Given the description of an element on the screen output the (x, y) to click on. 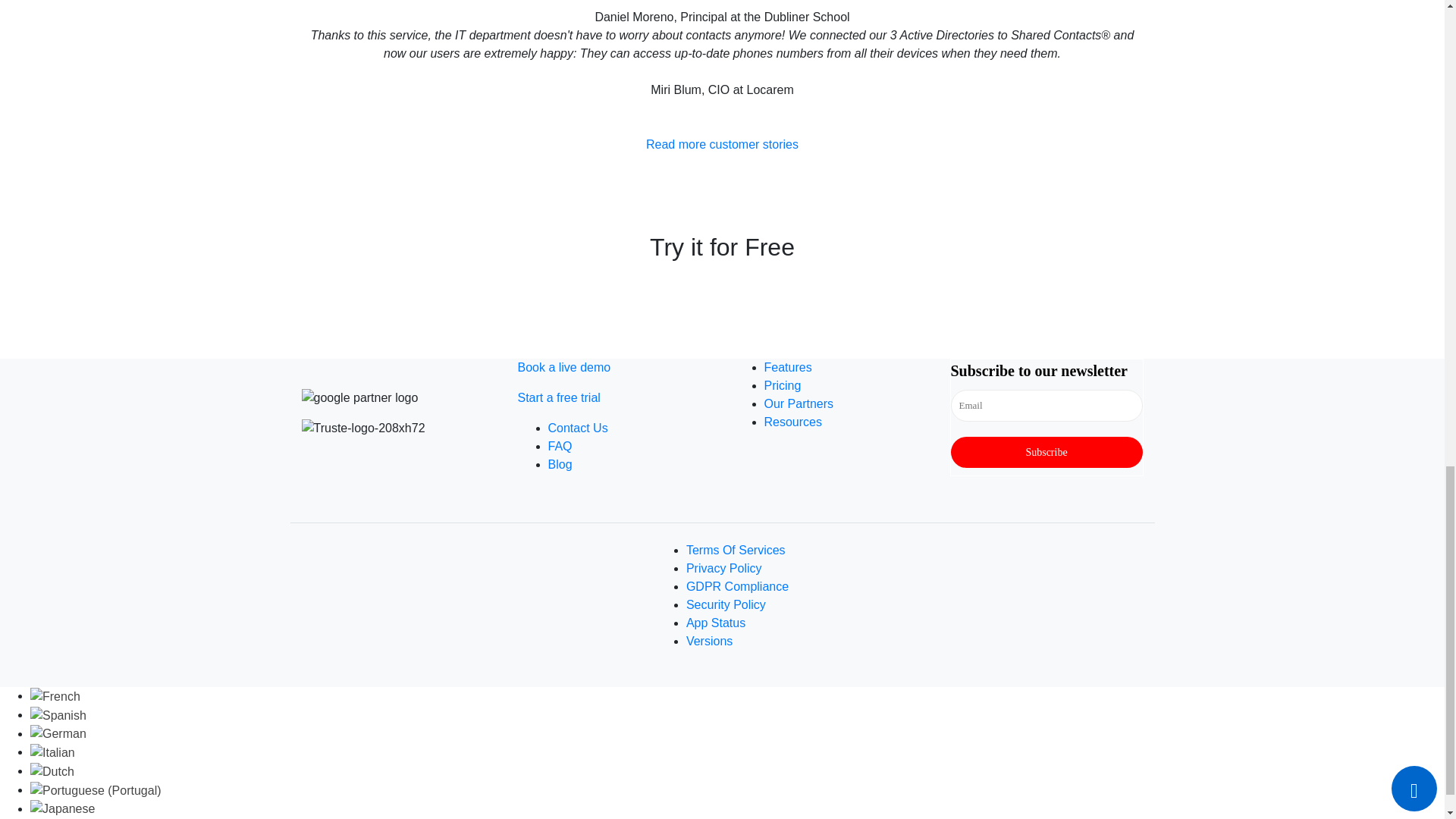
App Status (715, 622)
Privacy Policy (723, 567)
Our Partners (799, 403)
Pricing (783, 385)
Subscribe (1046, 451)
Contact Us (577, 427)
Terms Of Services (735, 549)
Start a free trial (557, 397)
Security Policy (725, 604)
Resources (793, 421)
FAQ (559, 445)
Features (788, 367)
Book a live demo (563, 367)
Read more customer stories (721, 144)
Versions (708, 640)
